Given the description of an element on the screen output the (x, y) to click on. 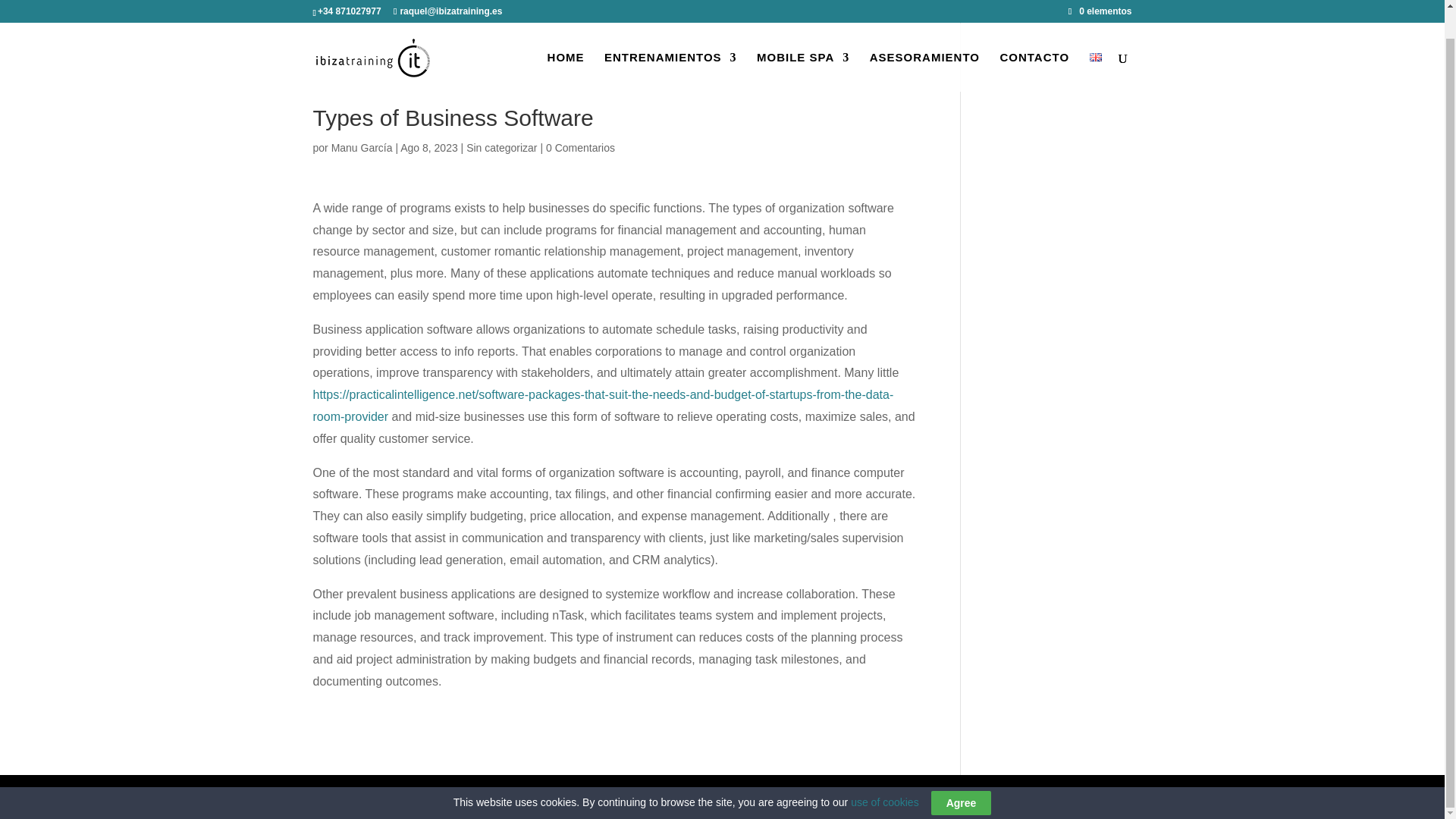
ENTRENAMIENTOS (670, 43)
CONTACTO (1033, 43)
ASESORAMIENTO (924, 43)
MOBILE SPA (802, 43)
HOME (566, 43)
